Given the description of an element on the screen output the (x, y) to click on. 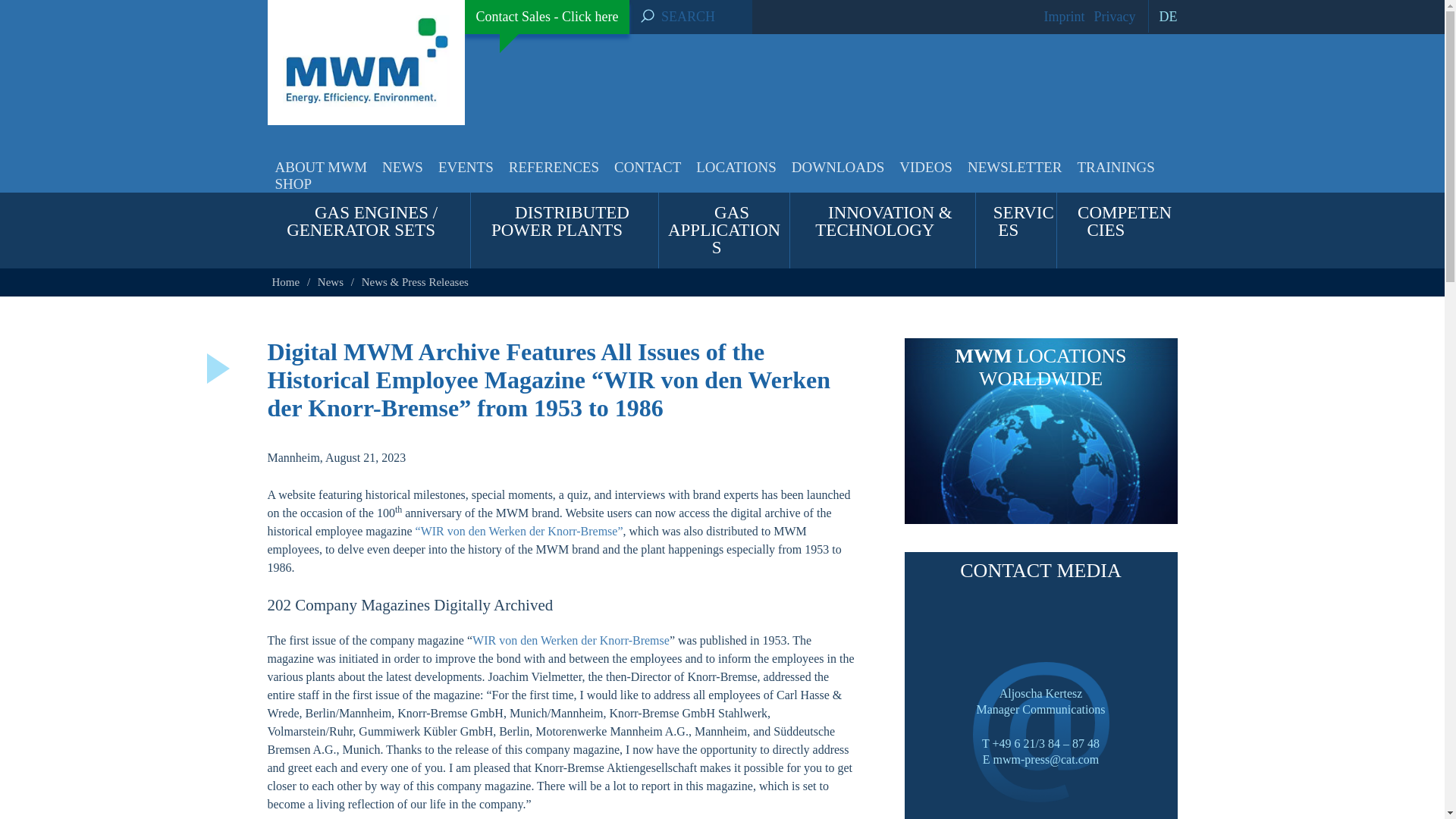
TRAININGS (1114, 166)
NEWSLETTER (1014, 166)
About MWM (320, 166)
Contact (647, 166)
EVENTS (465, 166)
NEWS (402, 166)
REFERENCES (553, 166)
DE (1162, 16)
SHOP (288, 183)
VIDEOS (925, 166)
Search (650, 17)
Privacy (1114, 16)
Imprint (1064, 16)
CONTACT (647, 166)
News (402, 166)
